Given the description of an element on the screen output the (x, y) to click on. 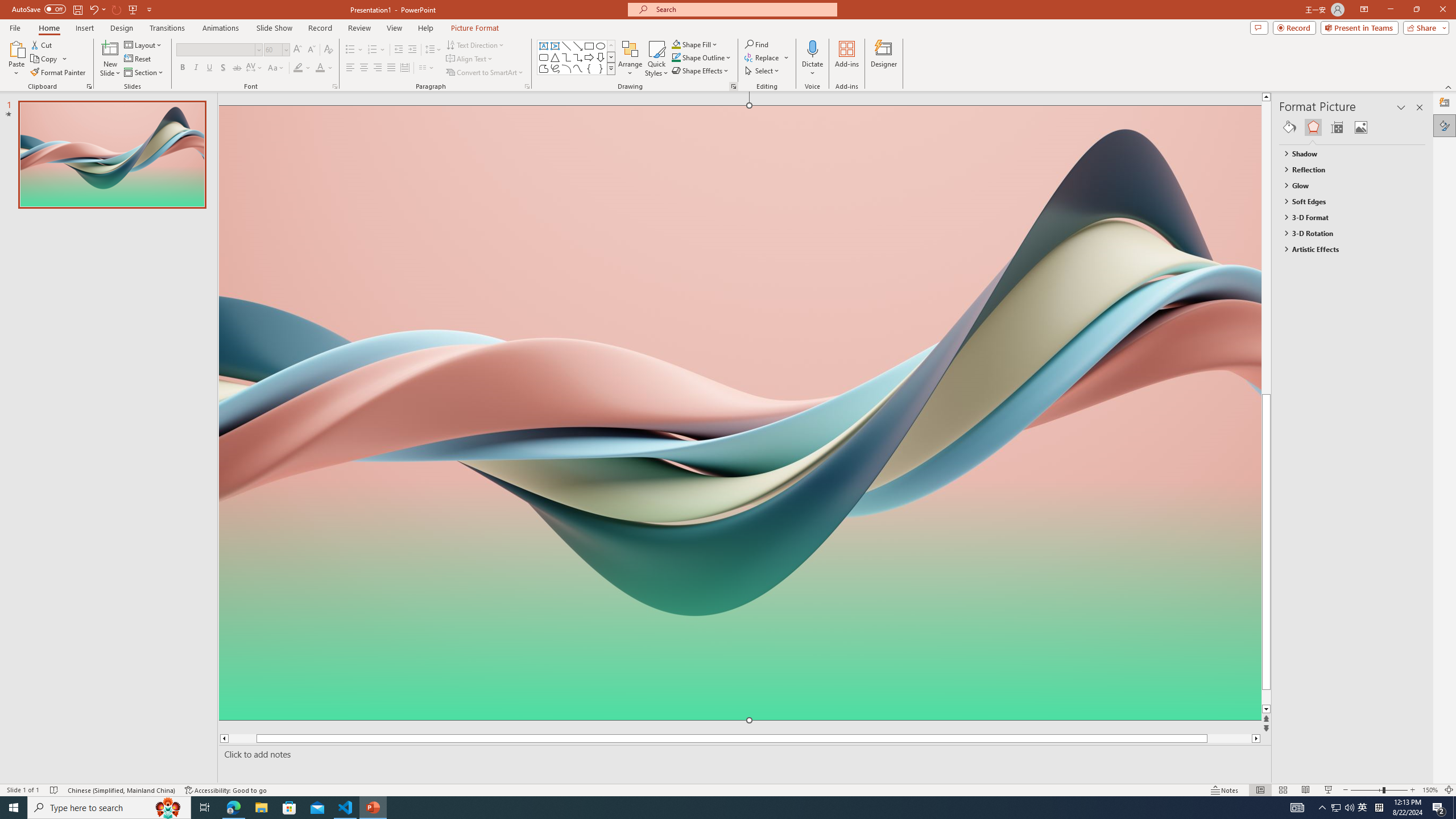
Size & Properties (1336, 126)
3-D Format (1347, 217)
Shape Effects (700, 69)
